Given the description of an element on the screen output the (x, y) to click on. 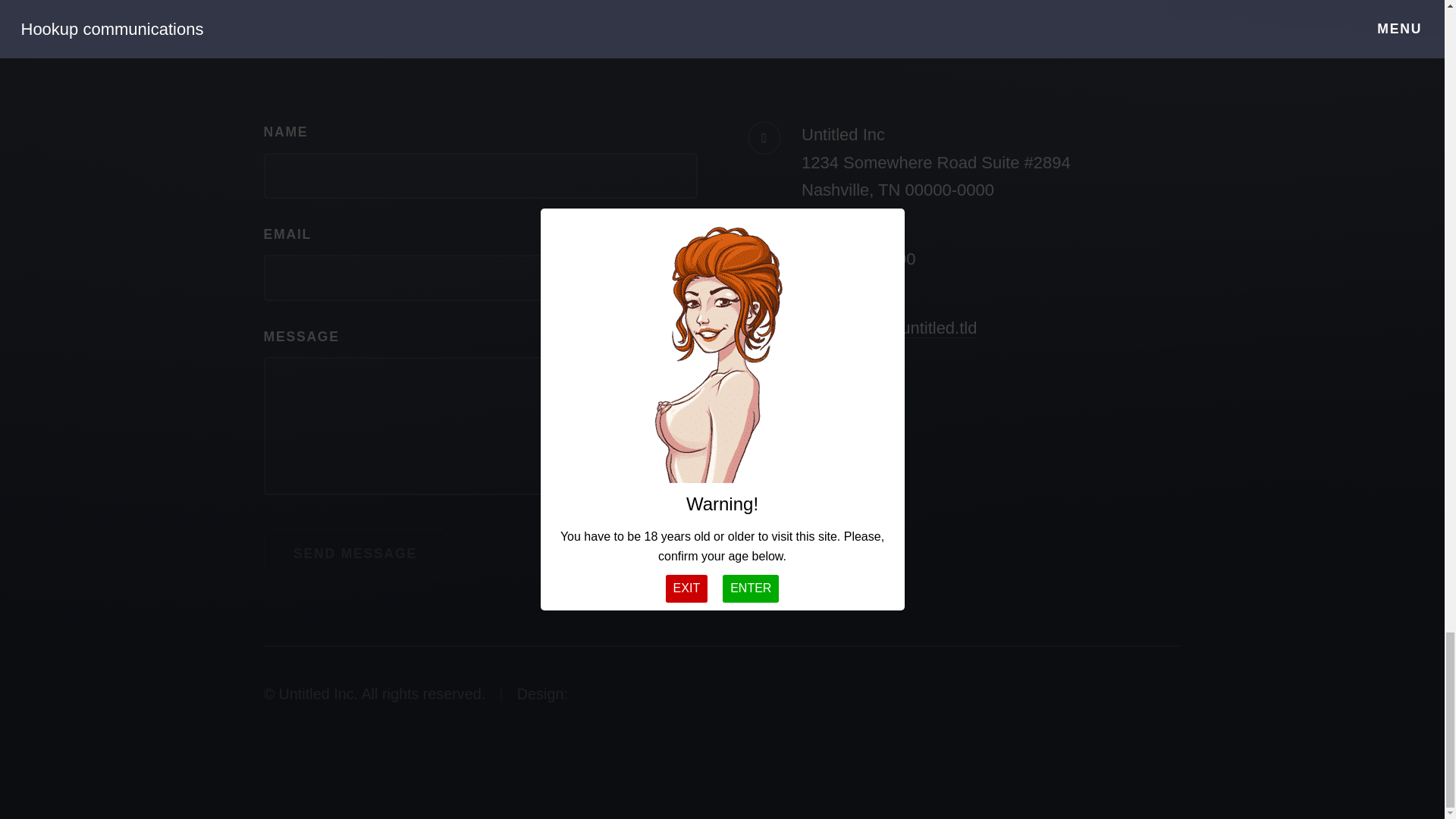
Send Message (354, 553)
Send Message (354, 553)
